Given the description of an element on the screen output the (x, y) to click on. 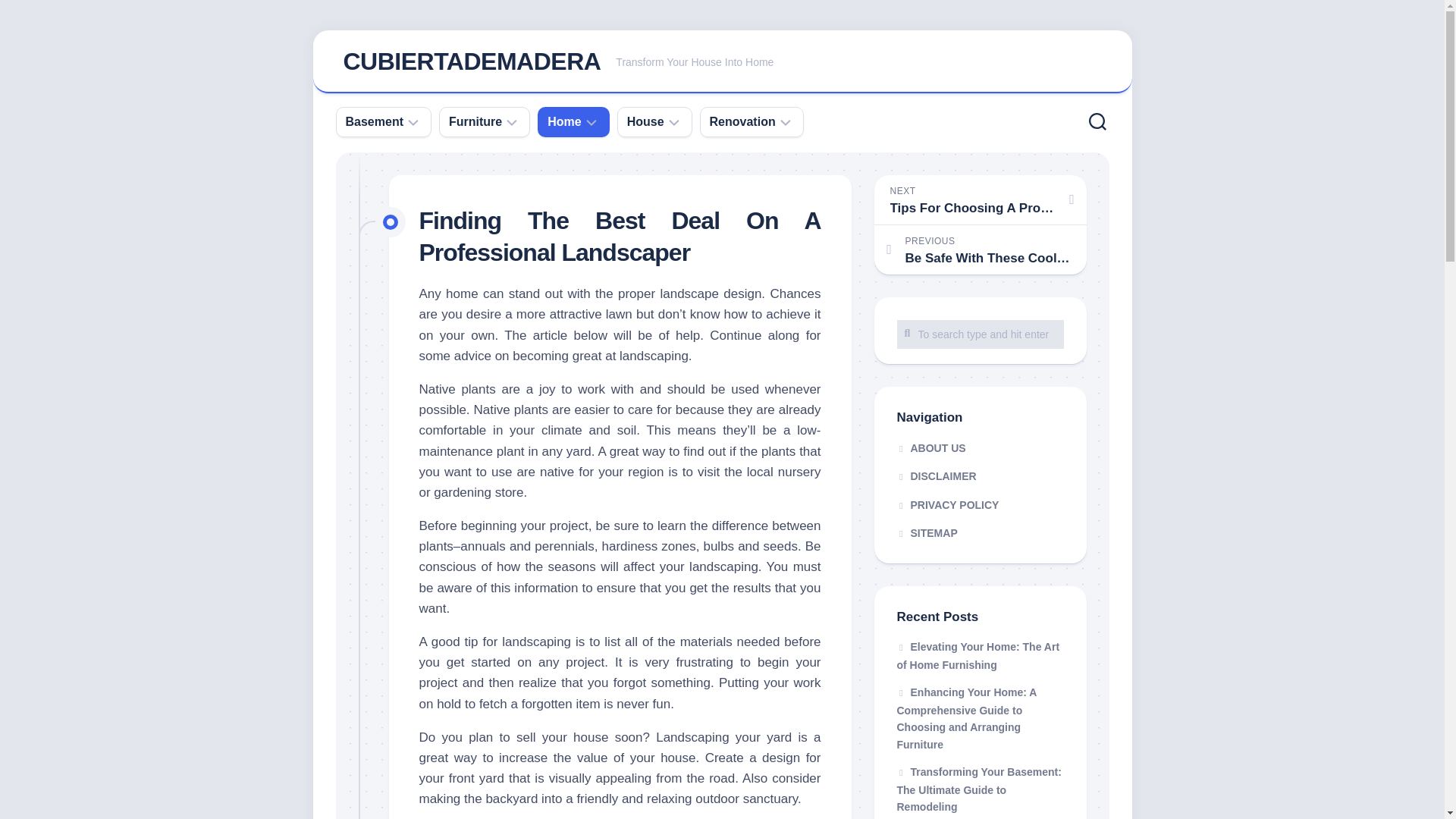
To search type and hit enter (979, 334)
Home (563, 121)
To search type and hit enter (979, 334)
House (645, 121)
Renovation (743, 121)
Basement (374, 121)
Furniture (475, 121)
CUBIERTADEMADERA (470, 61)
